Given the description of an element on the screen output the (x, y) to click on. 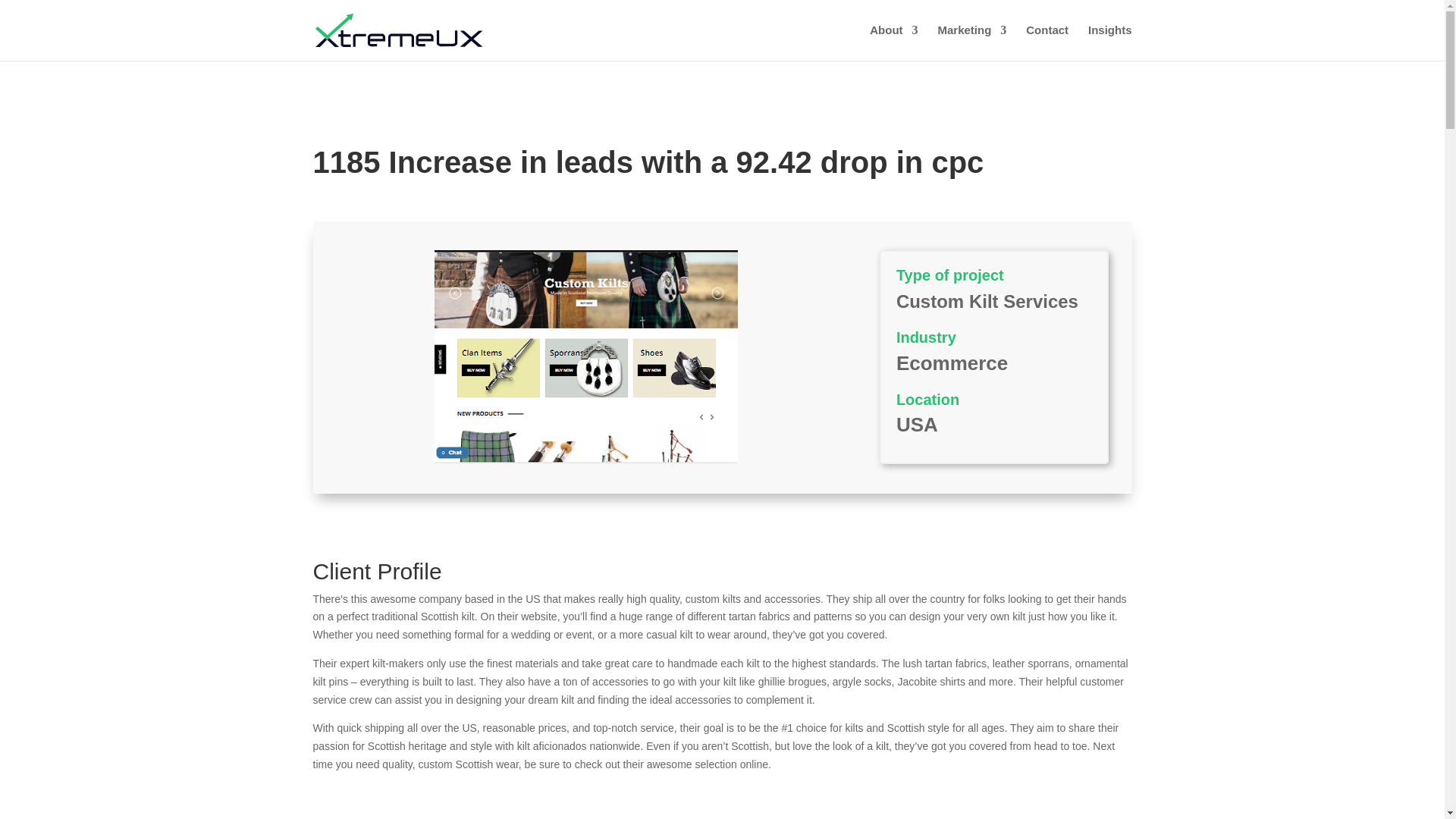
Marketing (971, 42)
Contact (1047, 42)
About (893, 42)
Case Study 09 (585, 357)
Insights (1109, 42)
